Given the description of an element on the screen output the (x, y) to click on. 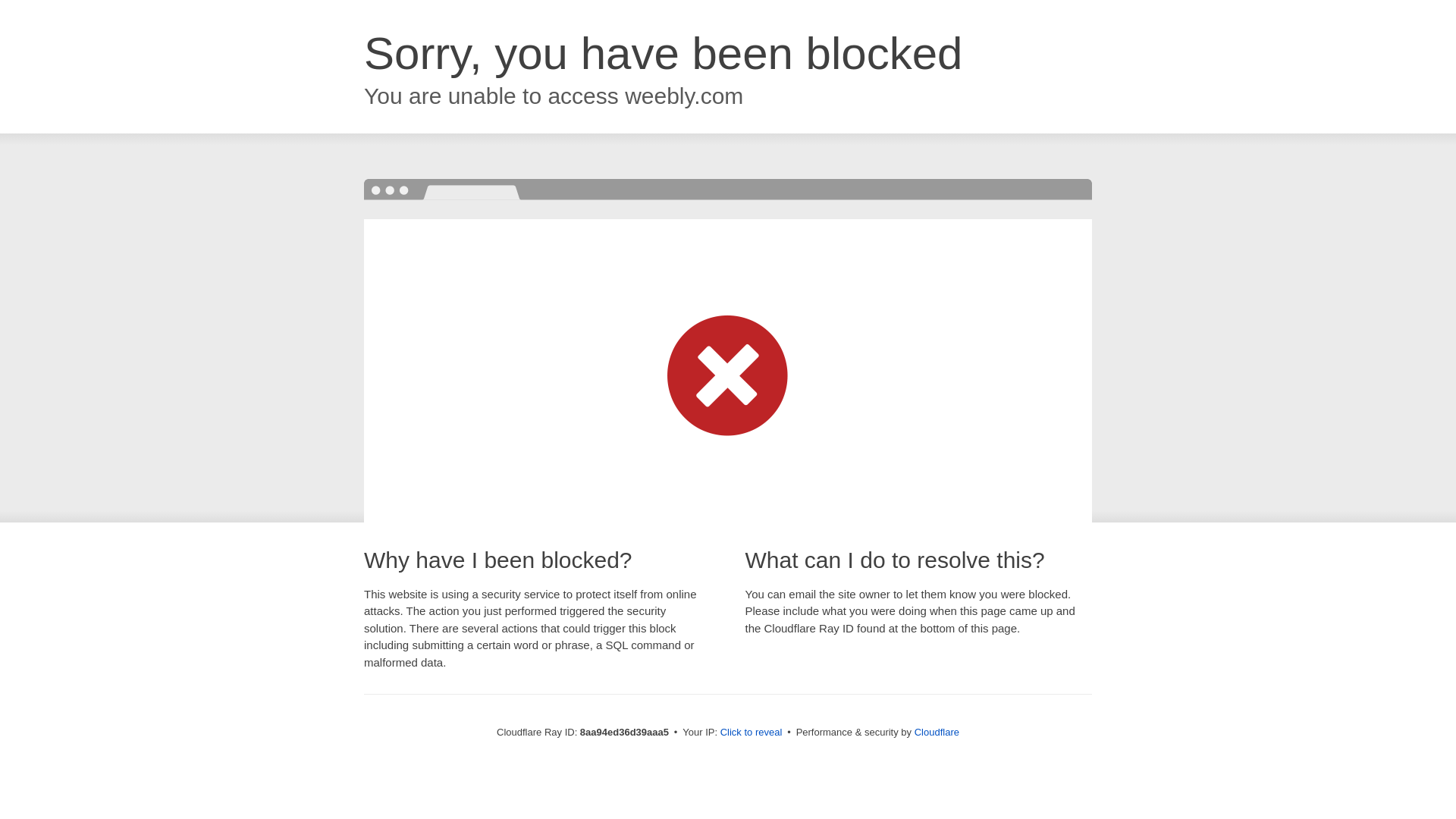
Click to reveal (751, 732)
Cloudflare (936, 731)
